Given the description of an element on the screen output the (x, y) to click on. 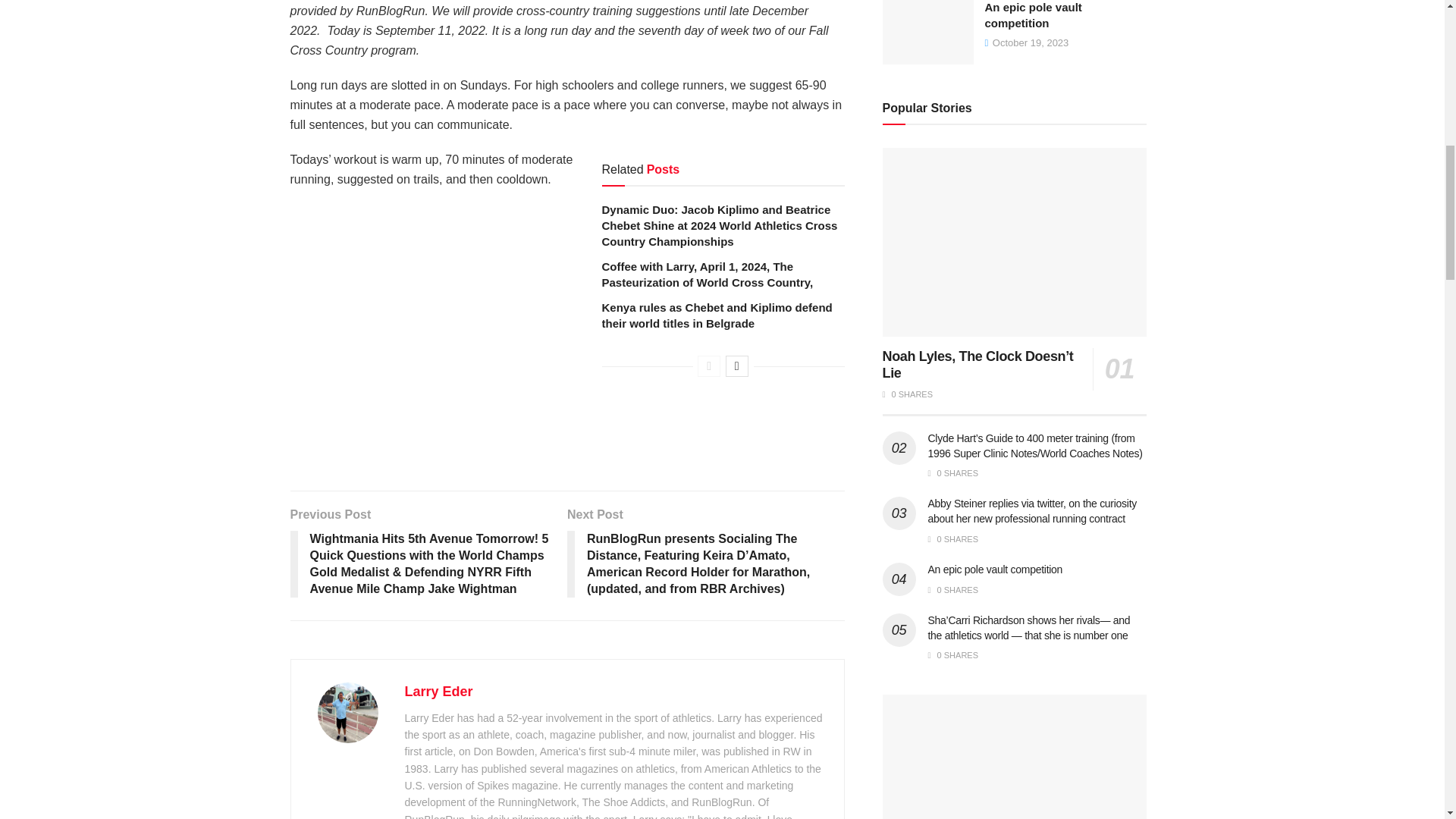
Next (736, 365)
Previous (708, 365)
